Given the description of an element on the screen output the (x, y) to click on. 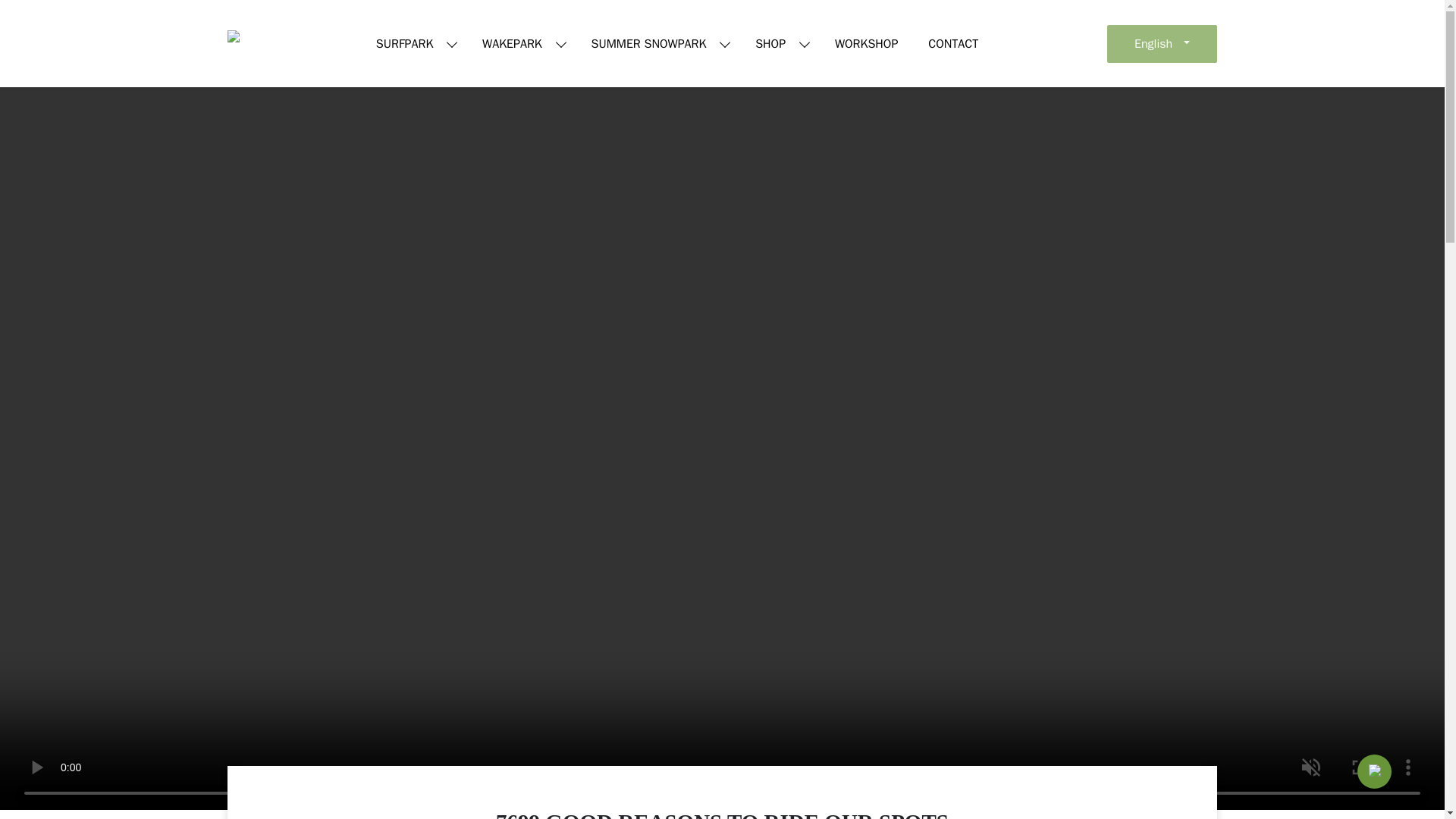
CONTACT (952, 42)
English (1161, 43)
Remonter en haut de la page (1374, 765)
WORKSHOP (866, 42)
